Given the description of an element on the screen output the (x, y) to click on. 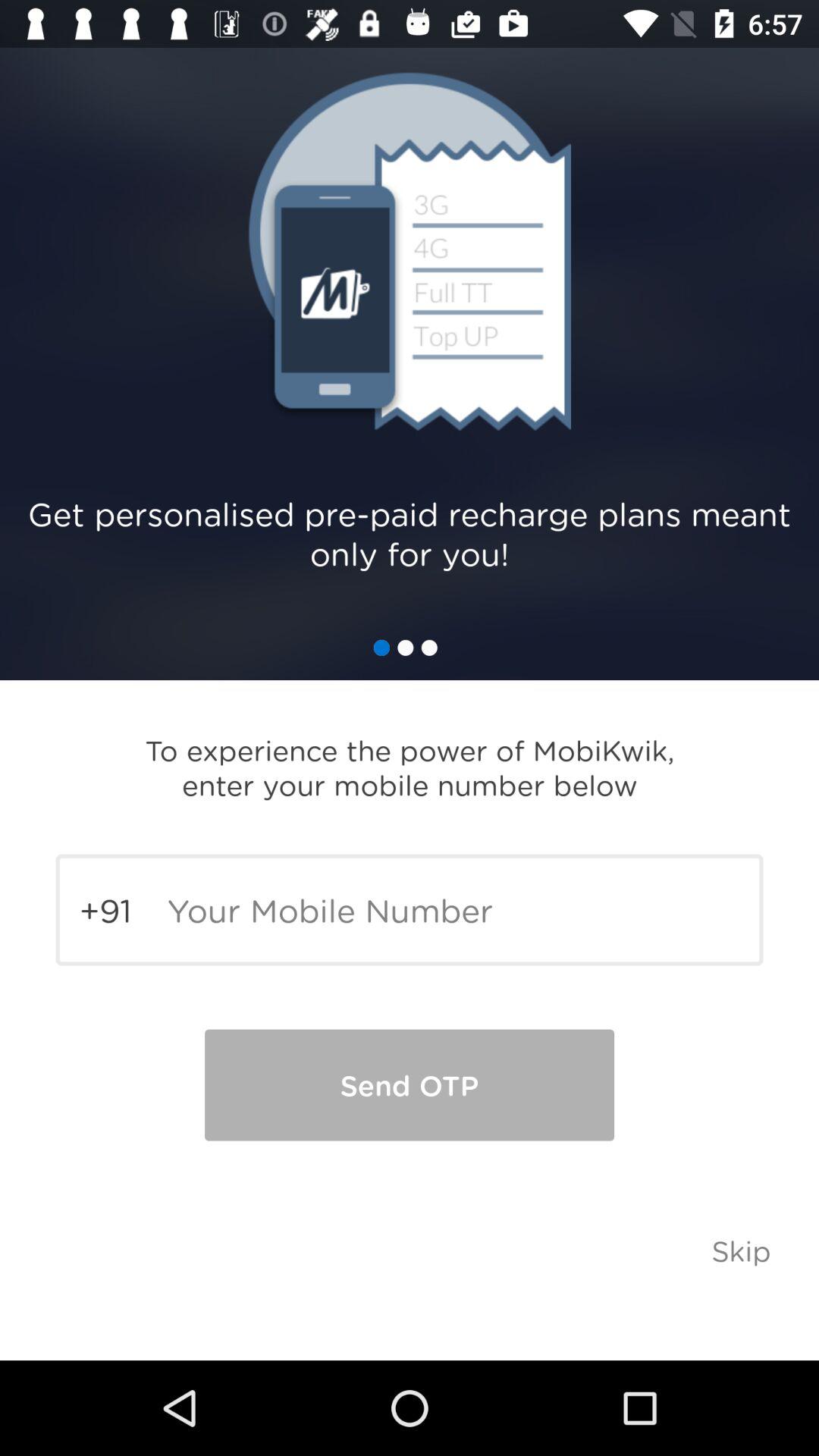
type mobile number (409, 909)
